Given the description of an element on the screen output the (x, y) to click on. 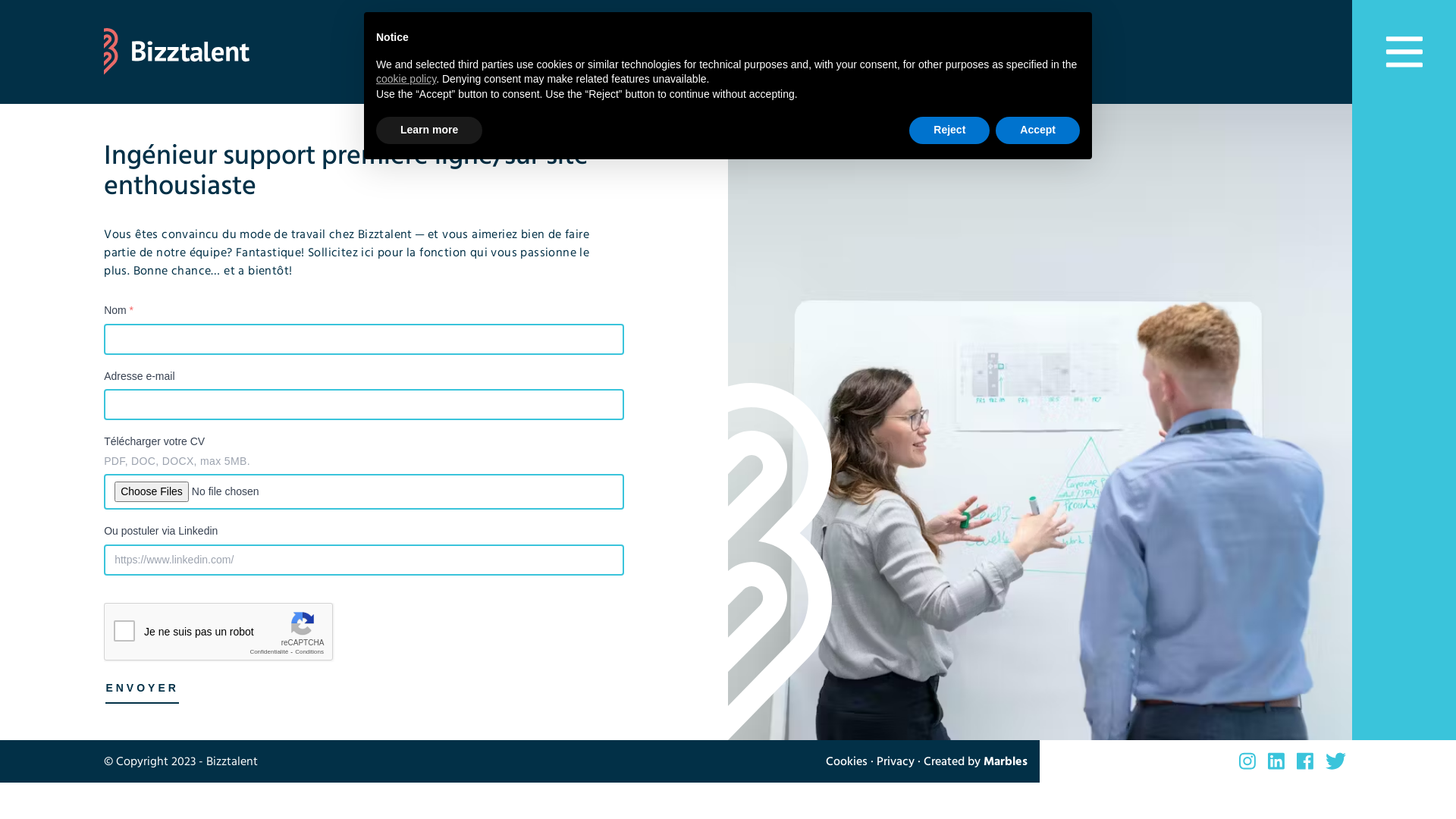
twitter url Element type: hover (1335, 760)
instagram url Element type: hover (1247, 760)
reCAPTCHA Element type: hover (218, 632)
facebook url Element type: hover (1304, 760)
ENVOYER Element type: text (141, 688)
Cookies Element type: text (846, 761)
Logo Home url Element type: hover (727, 51)
Learn more Element type: text (429, 130)
Accept Element type: text (1037, 130)
Reject Element type: text (949, 130)
linkedin url Element type: hover (1275, 760)
cookie policy Element type: text (406, 78)
Marbles Element type: text (1005, 761)
Privacy Element type: text (895, 761)
